Given the description of an element on the screen output the (x, y) to click on. 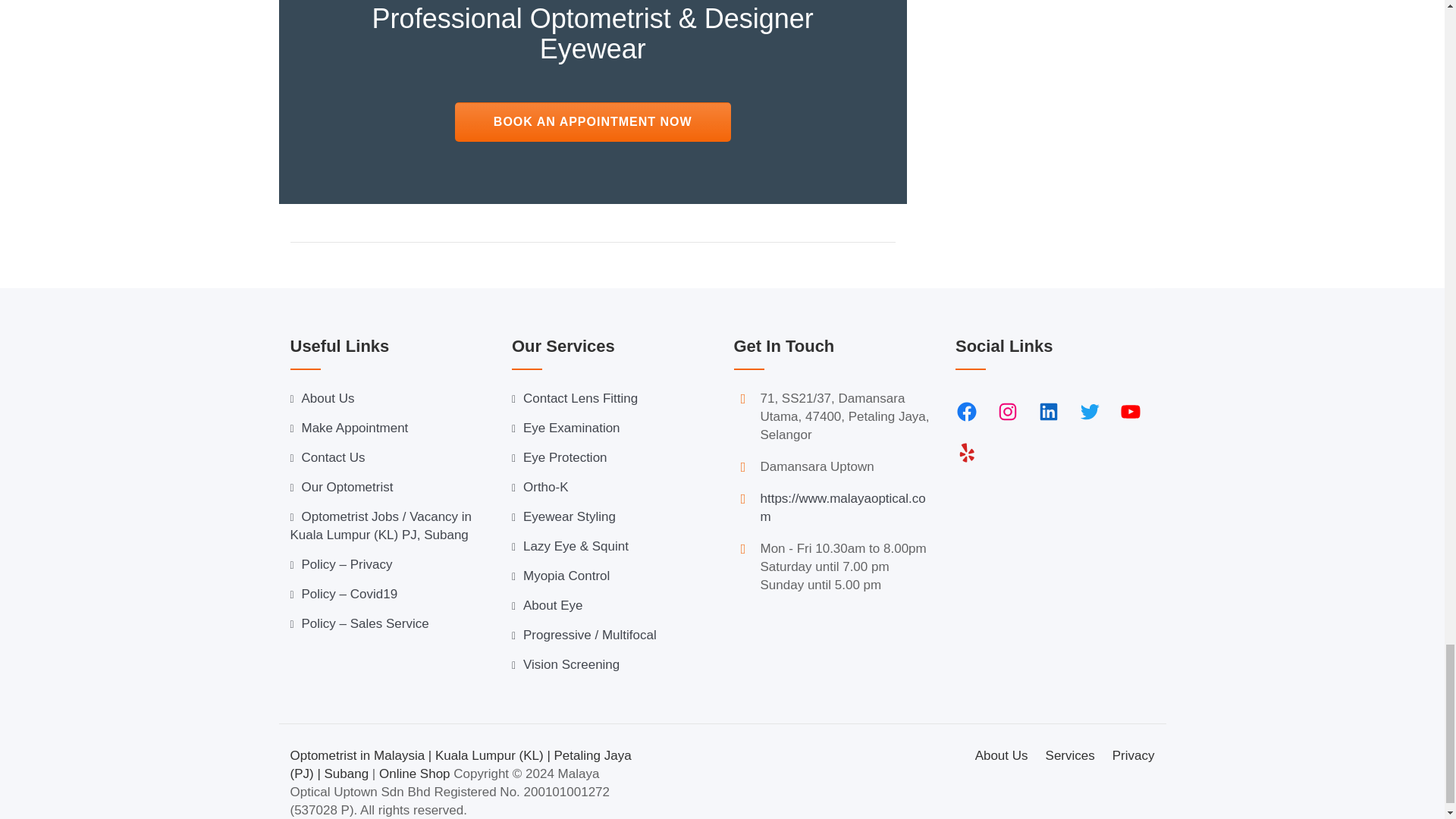
Book an Appointment (592, 121)
